Given the description of an element on the screen output the (x, y) to click on. 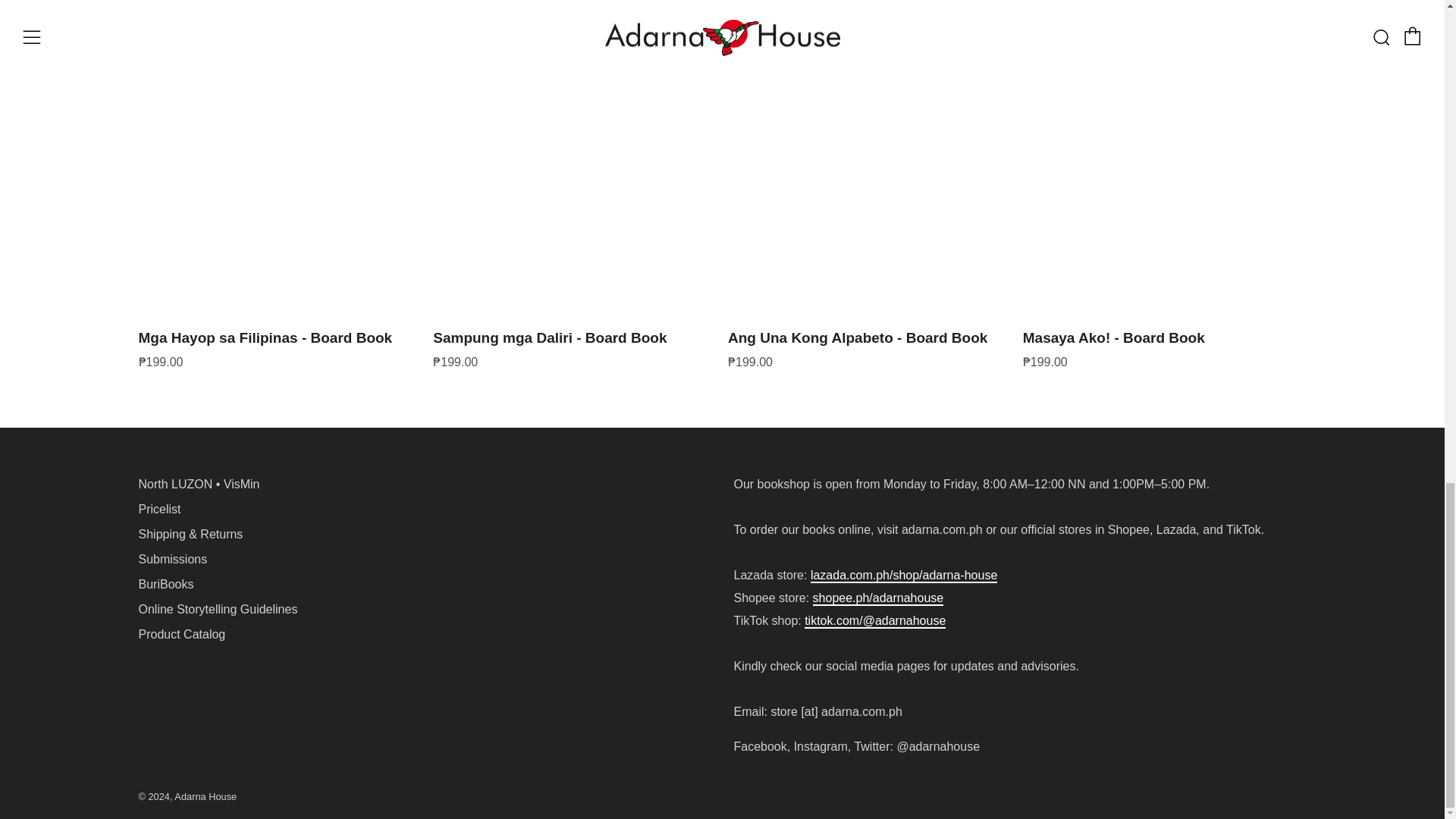
Adarna House TikTok Shop (874, 621)
Sampung mga Daliri - Board Book (574, 346)
Masaya Ako! - Board Book (1164, 346)
Mga Hayop sa Filipinas - Board Book (280, 346)
Ang Una Kong Alpabeto - Board Book (869, 346)
